Given the description of an element on the screen output the (x, y) to click on. 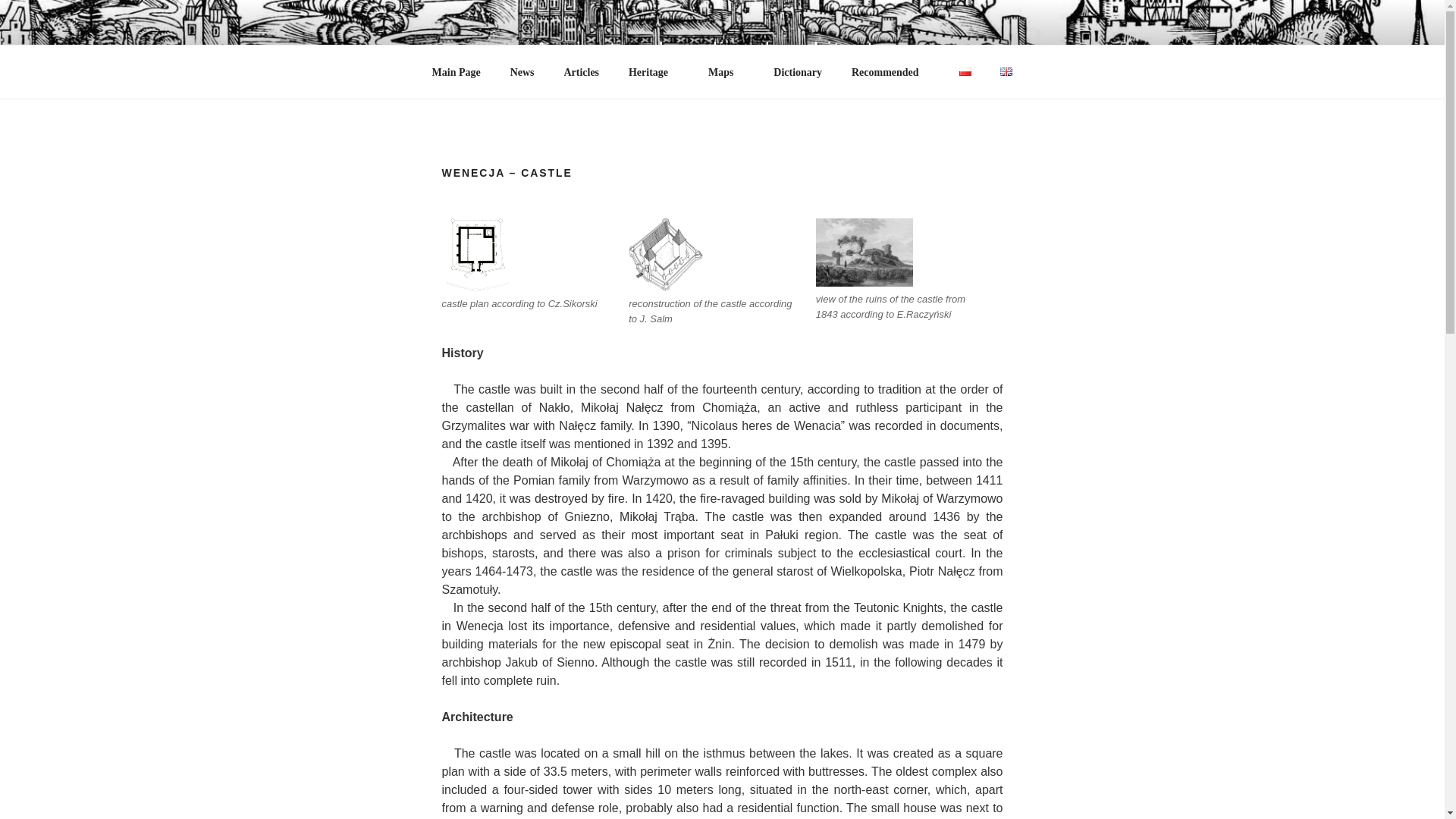
News (521, 129)
Maps (725, 129)
Main Page (456, 129)
Polski (964, 128)
Articles (581, 129)
Ancient and medieval architecture (722, 49)
English (1005, 128)
Recommended (890, 129)
Dictionary (797, 129)
